Given the description of an element on the screen output the (x, y) to click on. 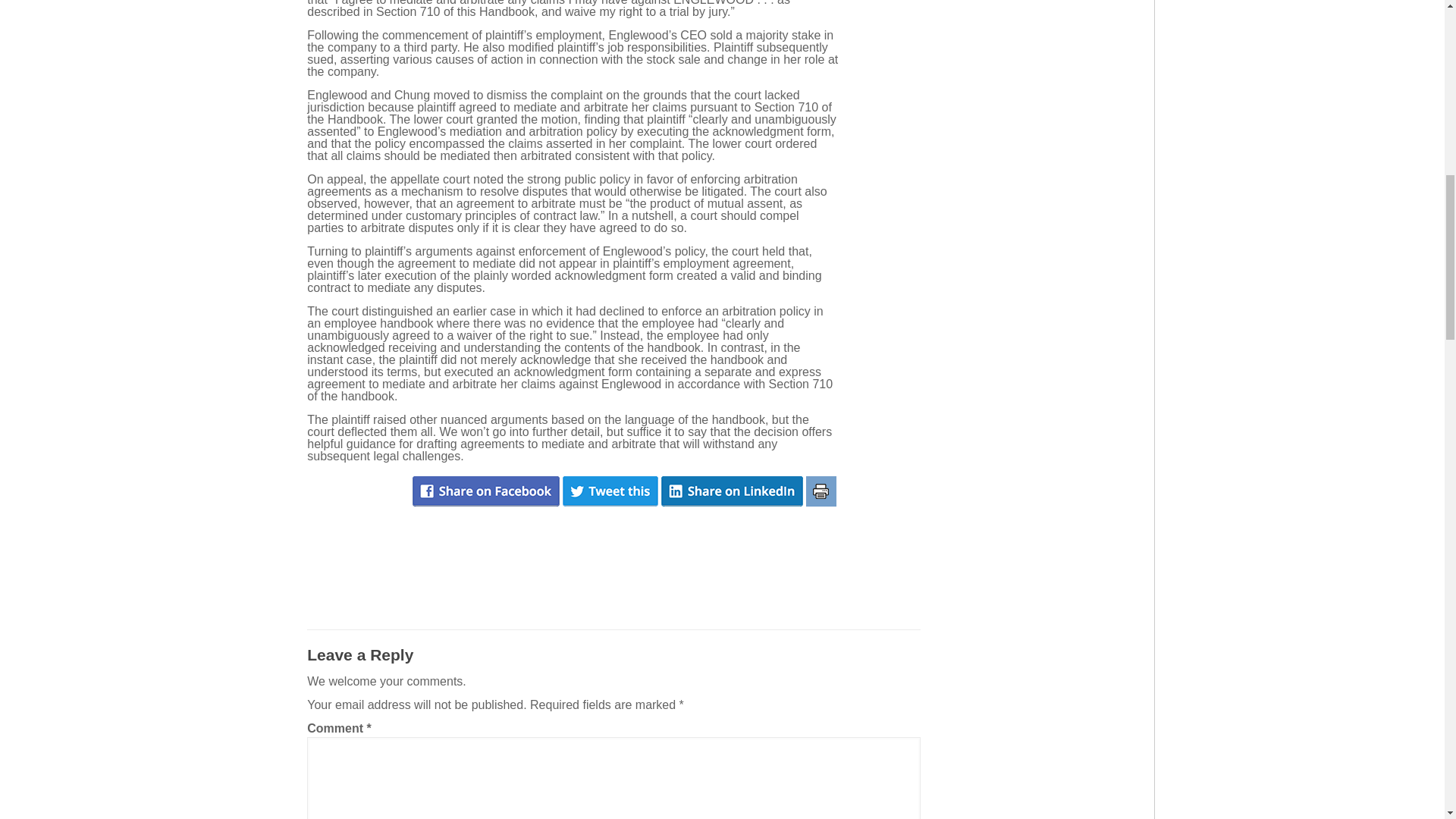
Linkedin (732, 490)
Twitter (610, 490)
Print (820, 490)
Facebook (485, 490)
